Given the description of an element on the screen output the (x, y) to click on. 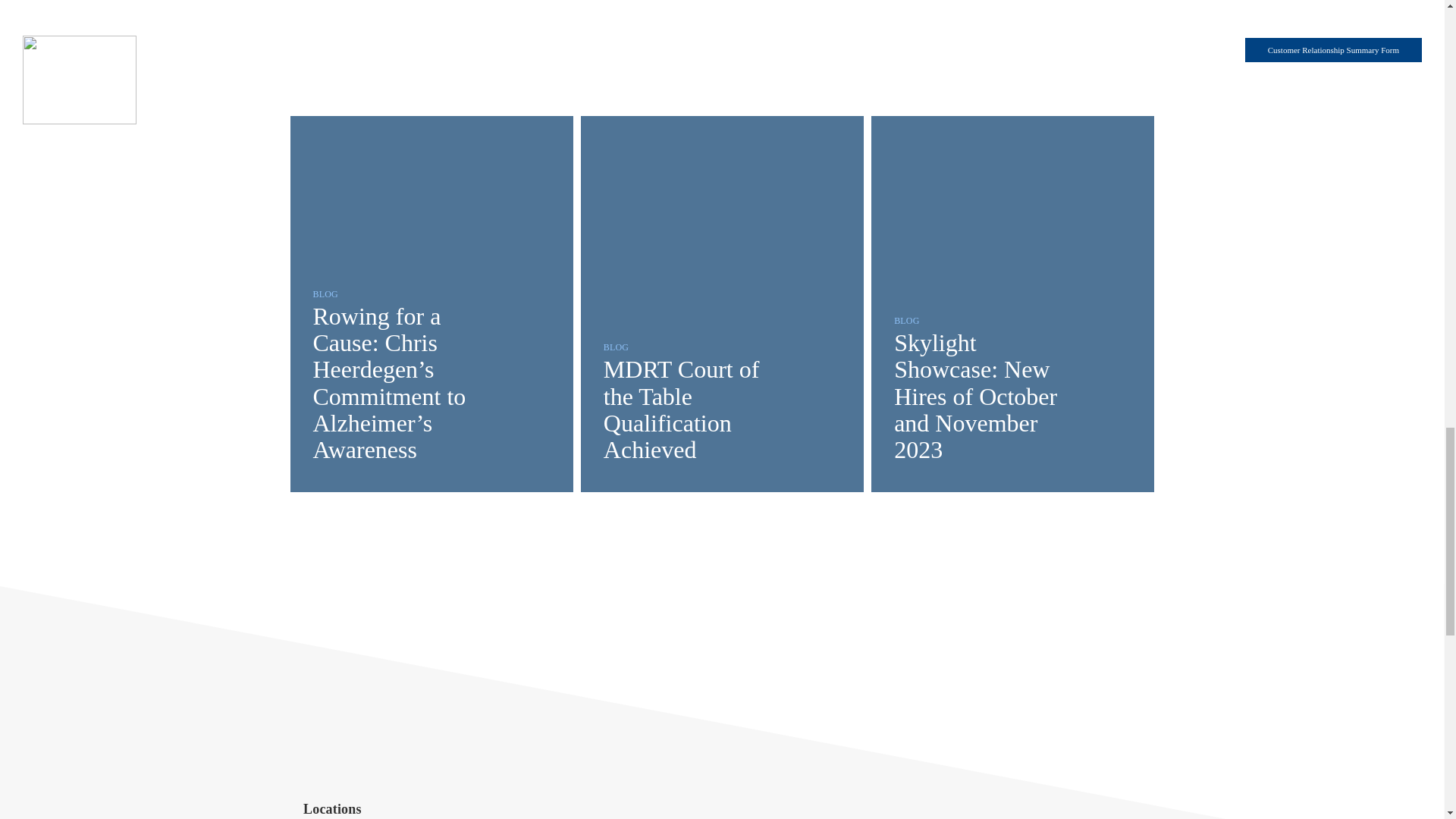
BLOG (616, 345)
BLOG (905, 319)
BLOG (325, 292)
